Given the description of an element on the screen output the (x, y) to click on. 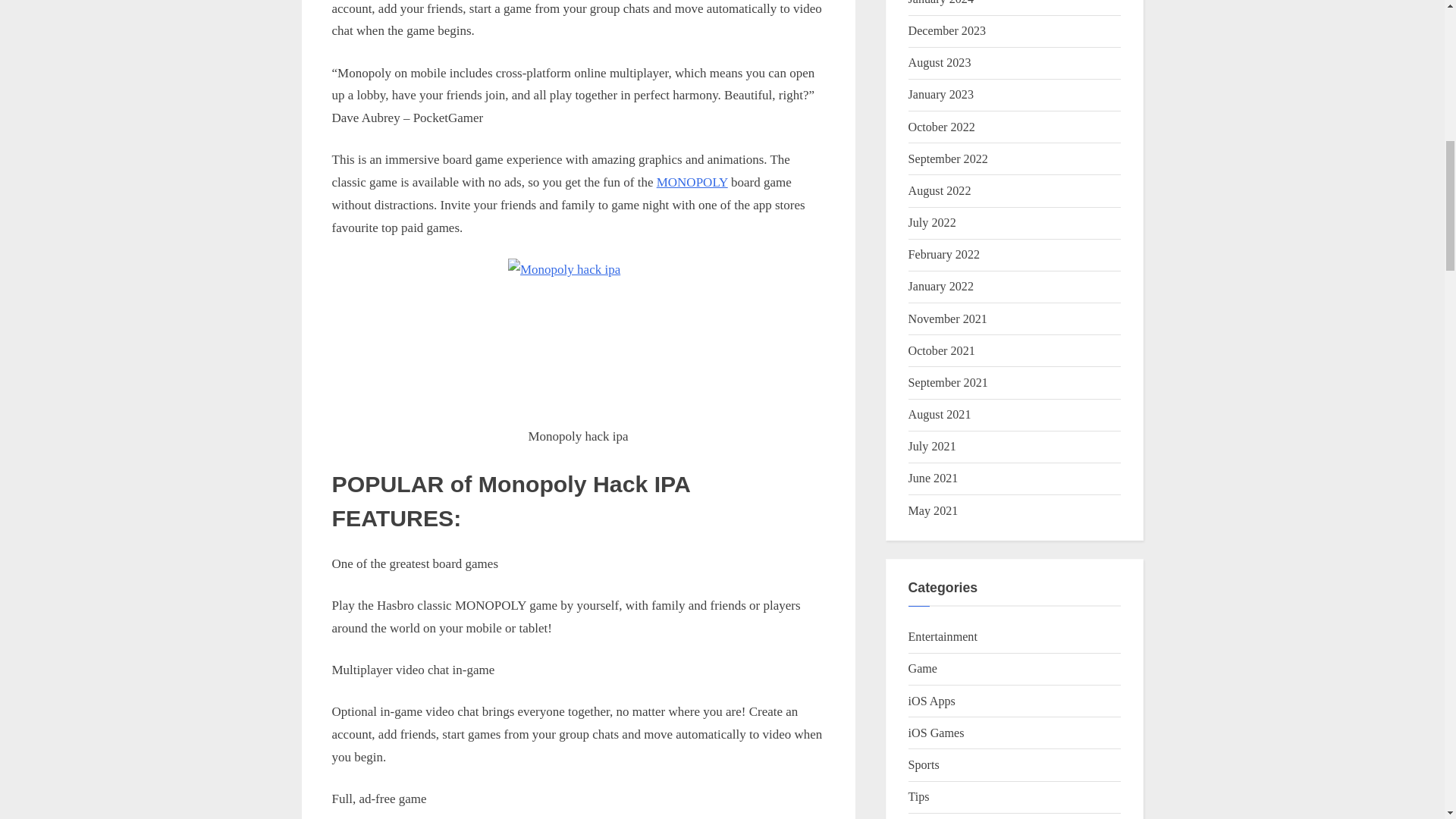
MONOPOLY (692, 182)
